Given the description of an element on the screen output the (x, y) to click on. 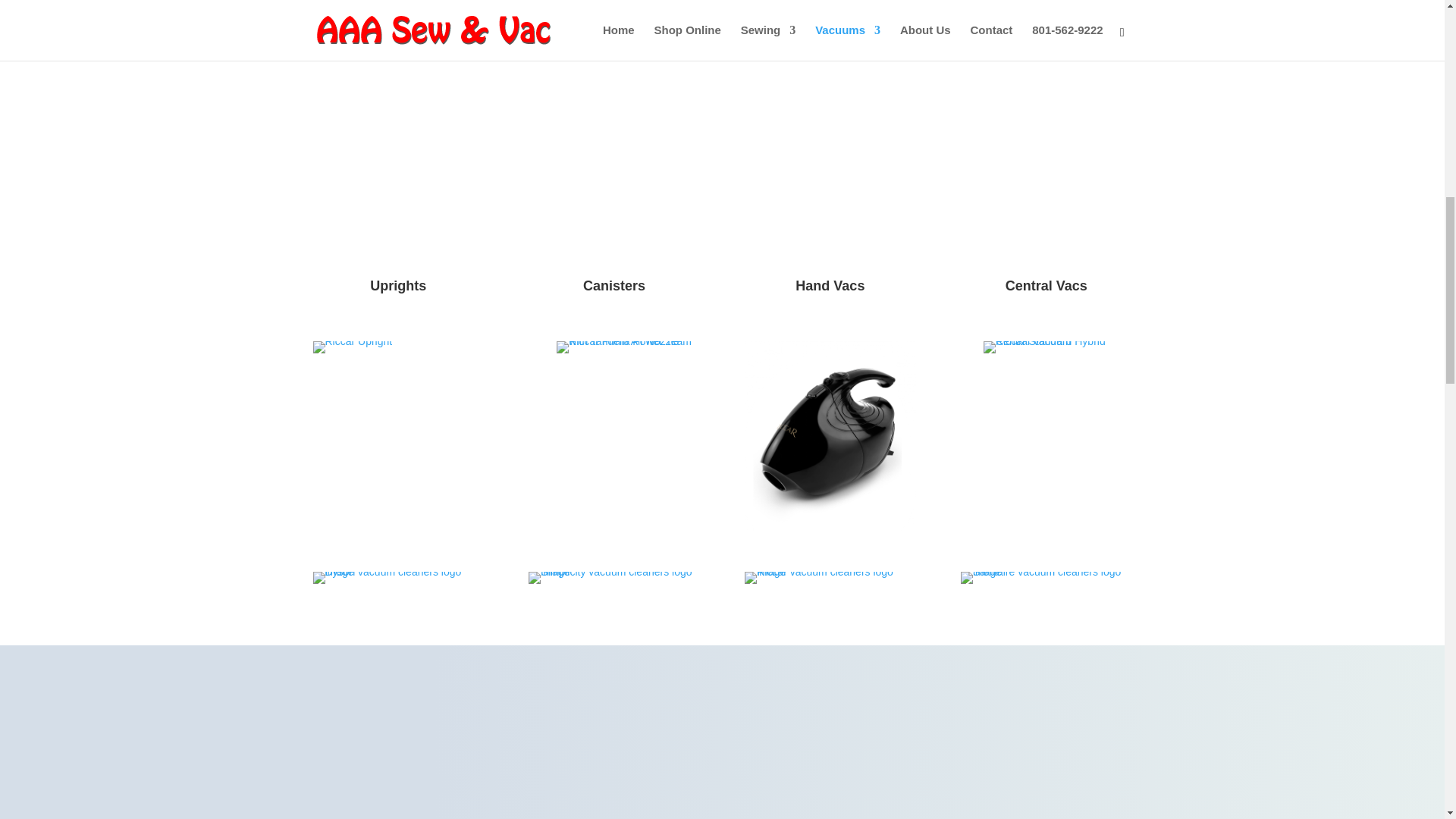
Sanitaire-vacuum-cleaners-200 (1045, 577)
dyson-vacuum-cleaners-200 (398, 577)
Riccar-vacuum-cleaners-200 (829, 577)
Simplicity-vacuum-cleaners-200 (613, 577)
